Given the description of an element on the screen output the (x, y) to click on. 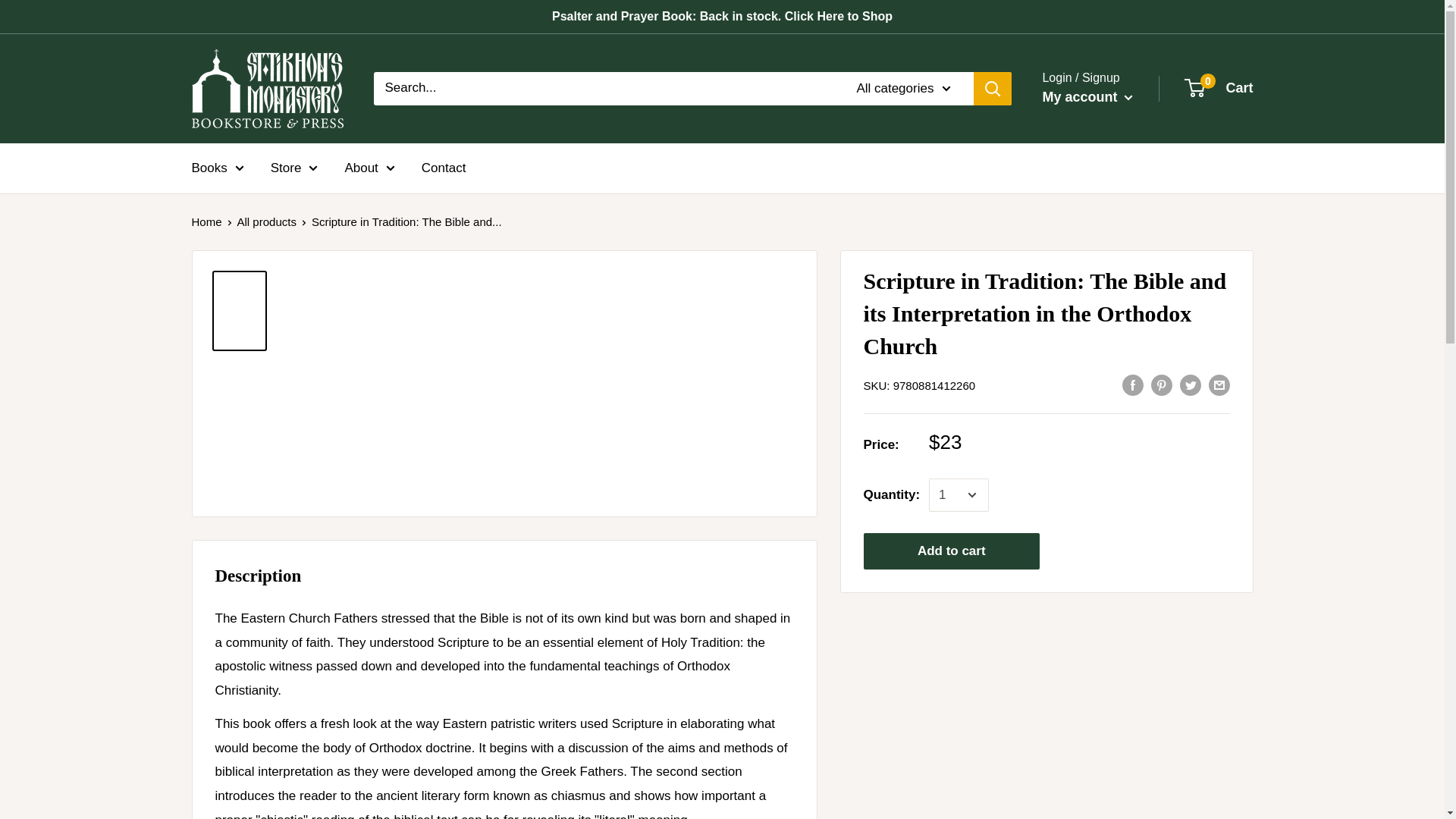
Psalter and Prayer Book: Back in stock. Click Here to Shop (721, 16)
